Given the description of an element on the screen output the (x, y) to click on. 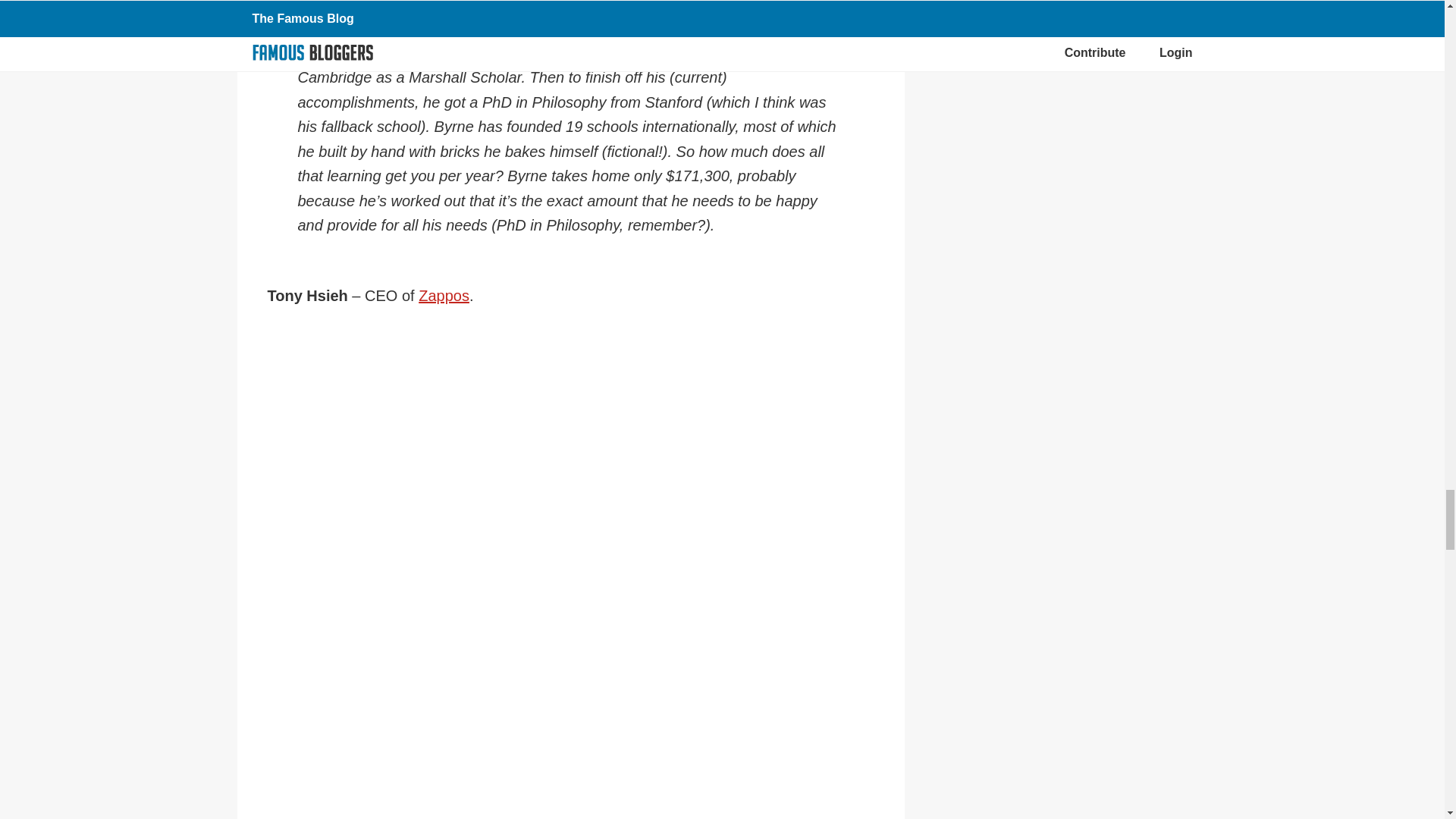
Zappos (443, 295)
